Given the description of an element on the screen output the (x, y) to click on. 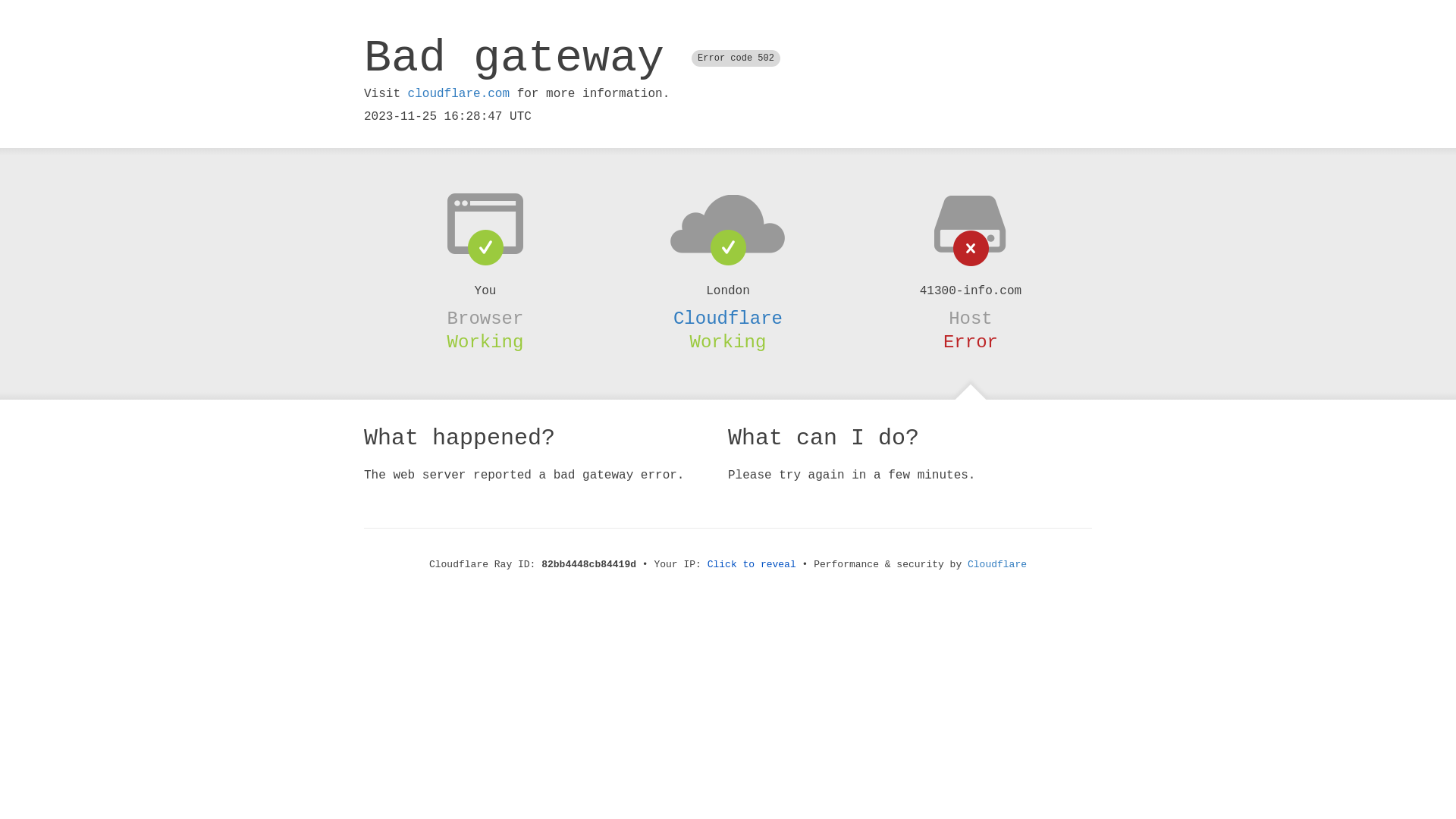
cloudflare.com Element type: text (458, 93)
Cloudflare Element type: text (727, 318)
Click to reveal Element type: text (751, 564)
Cloudflare Element type: text (996, 564)
